Given the description of an element on the screen output the (x, y) to click on. 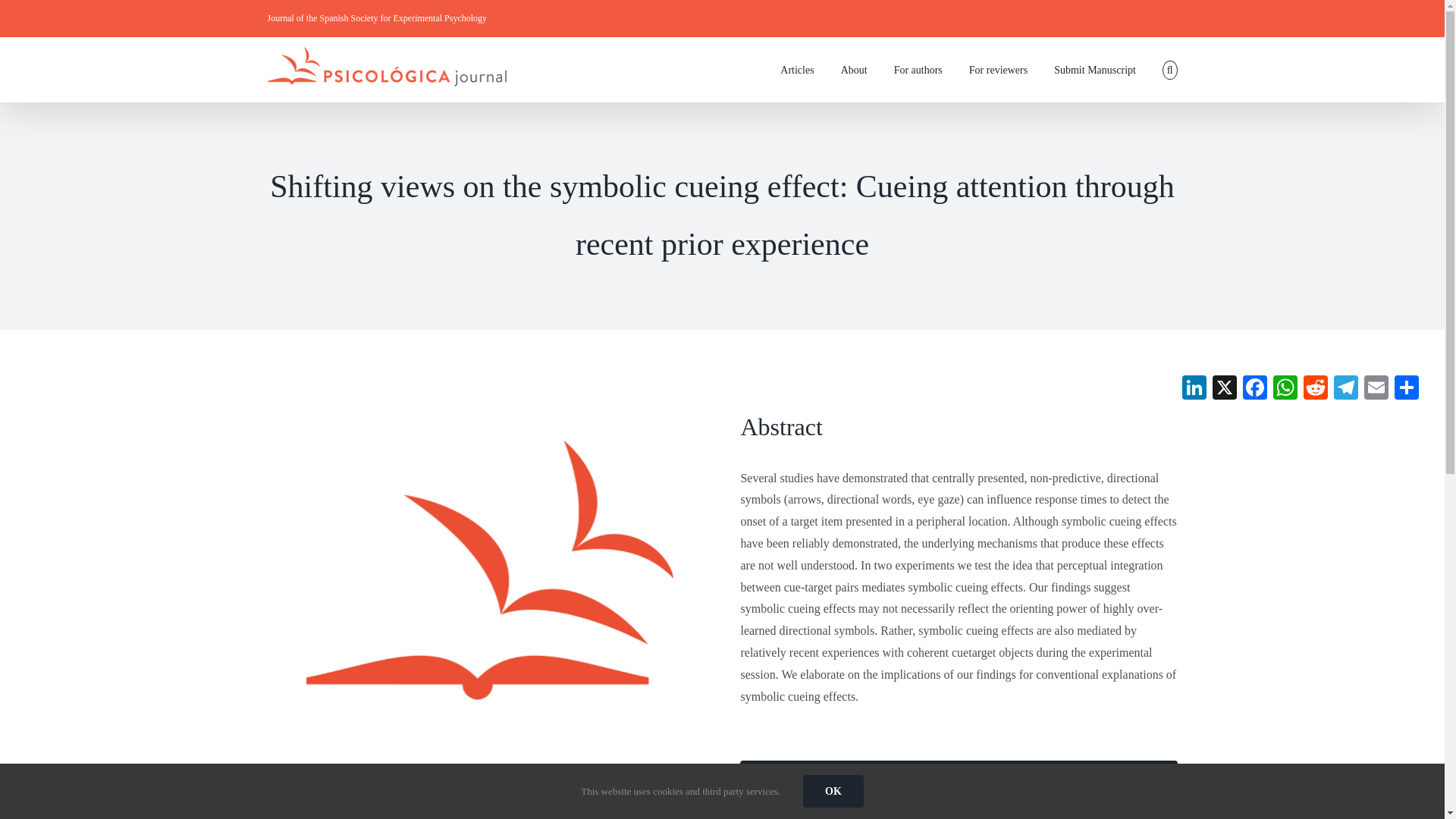
Email (1376, 389)
Facebook (1254, 389)
X (1224, 389)
WhatsApp (1284, 389)
Telegram (1345, 389)
LinkedIn (1194, 389)
Reddit (1315, 389)
